Given the description of an element on the screen output the (x, y) to click on. 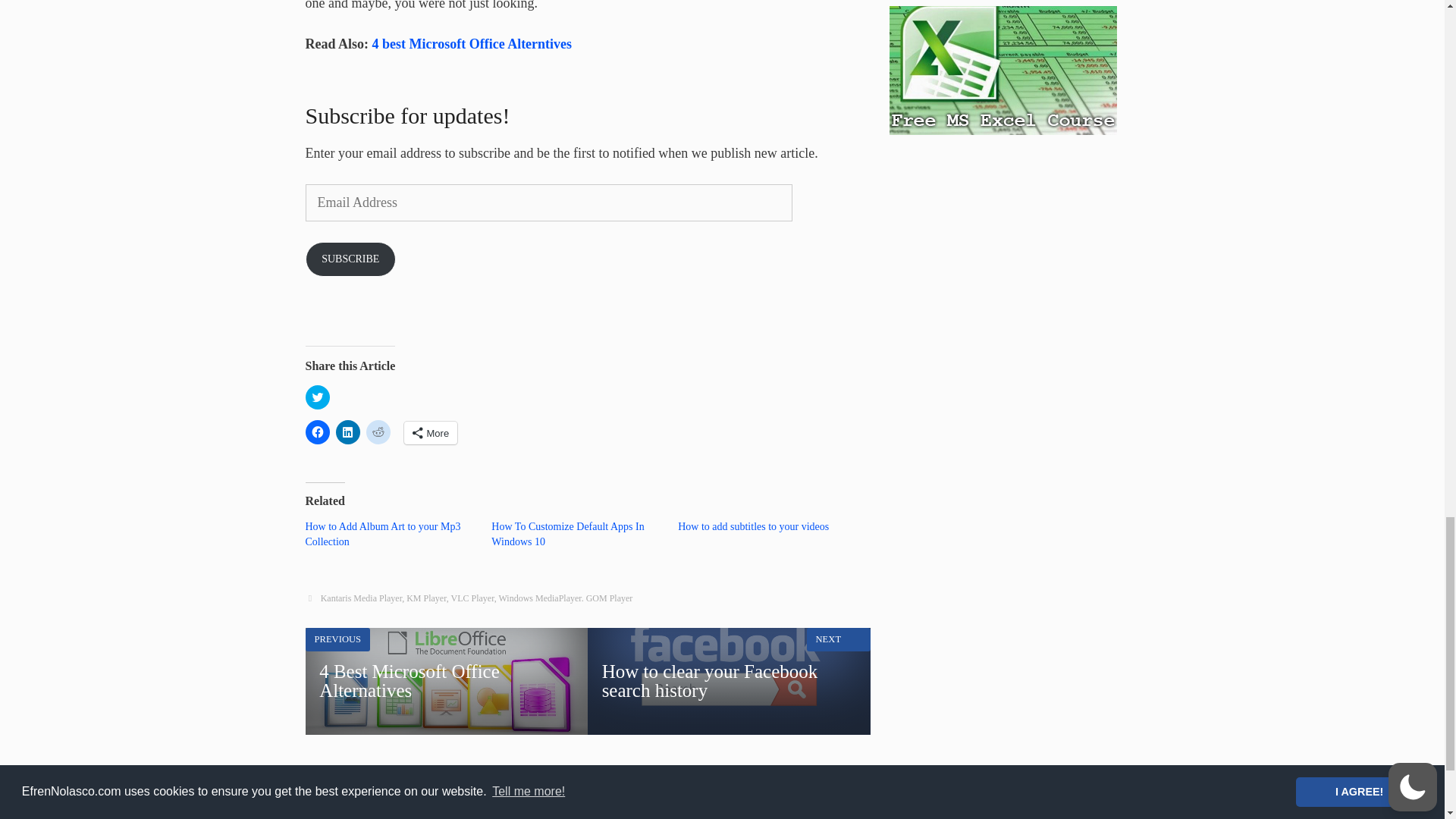
Click to share on Twitter (316, 396)
How To Customize Default Apps In Windows 10 (567, 533)
4 best Microsoft Office Alterntives (472, 43)
How to add subtitles to your videos (753, 526)
Click to share on LinkedIn (346, 432)
KM Player (426, 597)
Click to share on Facebook (316, 432)
How to Add Album Art to your Mp3 Collection (382, 533)
More (430, 432)
SUBSCRIBE (350, 258)
Click to share on Reddit (377, 432)
Kantaris Media Player (360, 597)
